Given the description of an element on the screen output the (x, y) to click on. 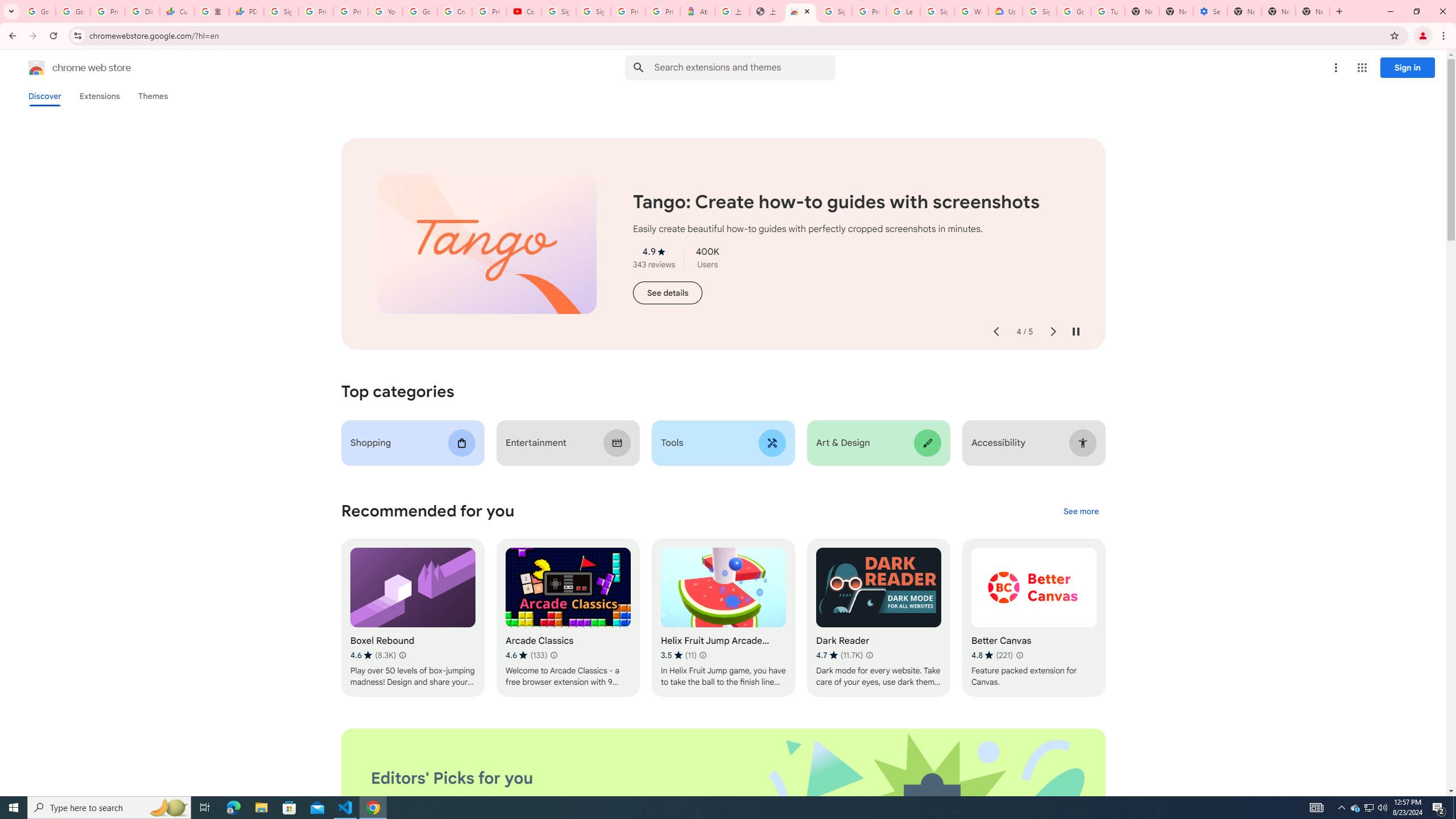
YouTube (384, 11)
Chrome Web Store logo chrome web store (67, 67)
Google Account Help (1073, 11)
Dark Reader (878, 617)
Learn more about results and reviews "Arcade Classics" (553, 655)
Learn more about results and reviews "Better Canvas" (1019, 655)
Discover (43, 95)
Shopping (412, 443)
Boxel Rebound (412, 617)
